Given the description of an element on the screen output the (x, y) to click on. 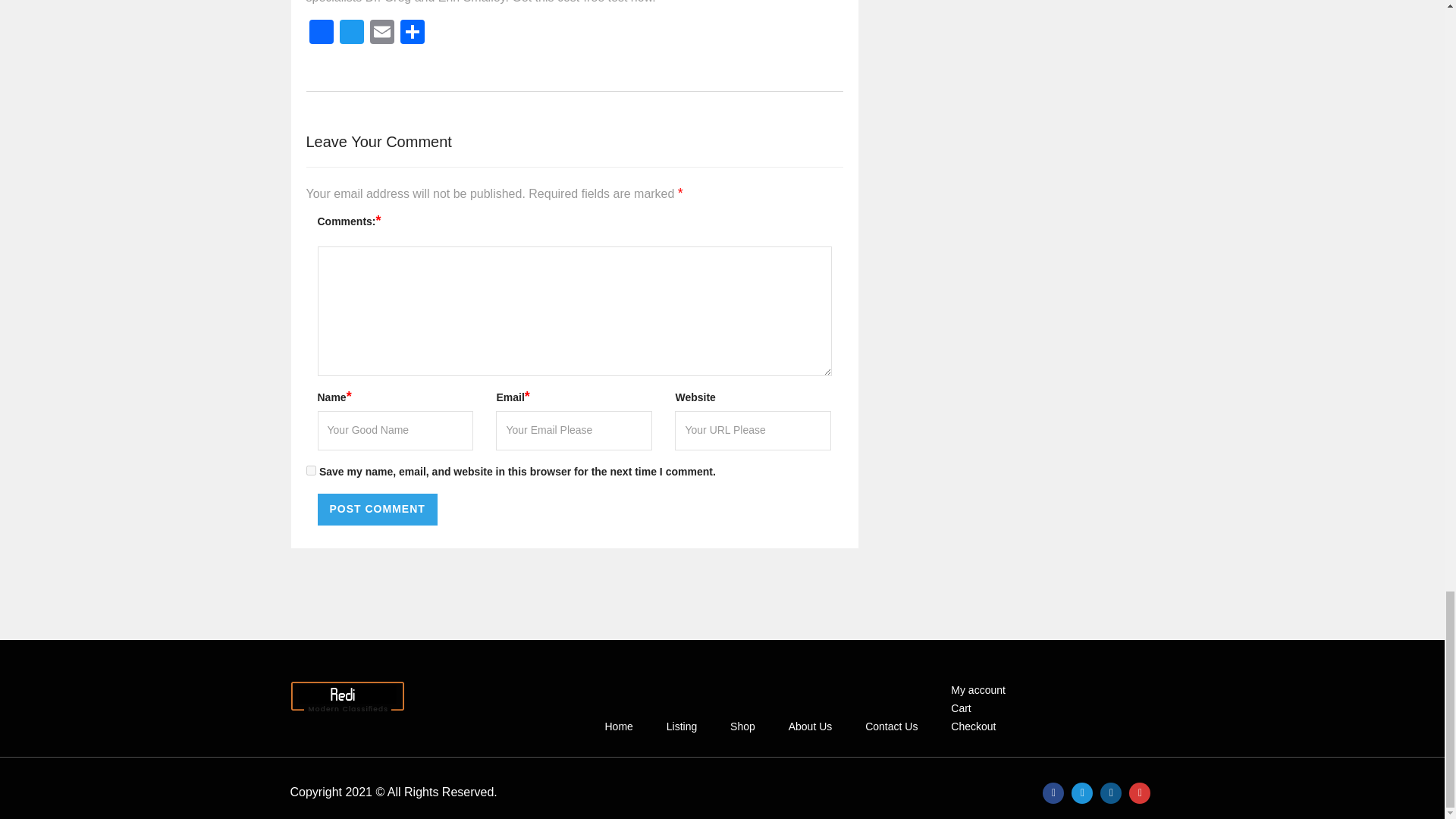
Cart (960, 707)
Twitter (351, 33)
Twitter (351, 33)
Email (381, 33)
Post Comment (376, 509)
About Us (810, 726)
My account (977, 689)
Facebook (320, 33)
Post Comment (376, 509)
Email (381, 33)
